Given the description of an element on the screen output the (x, y) to click on. 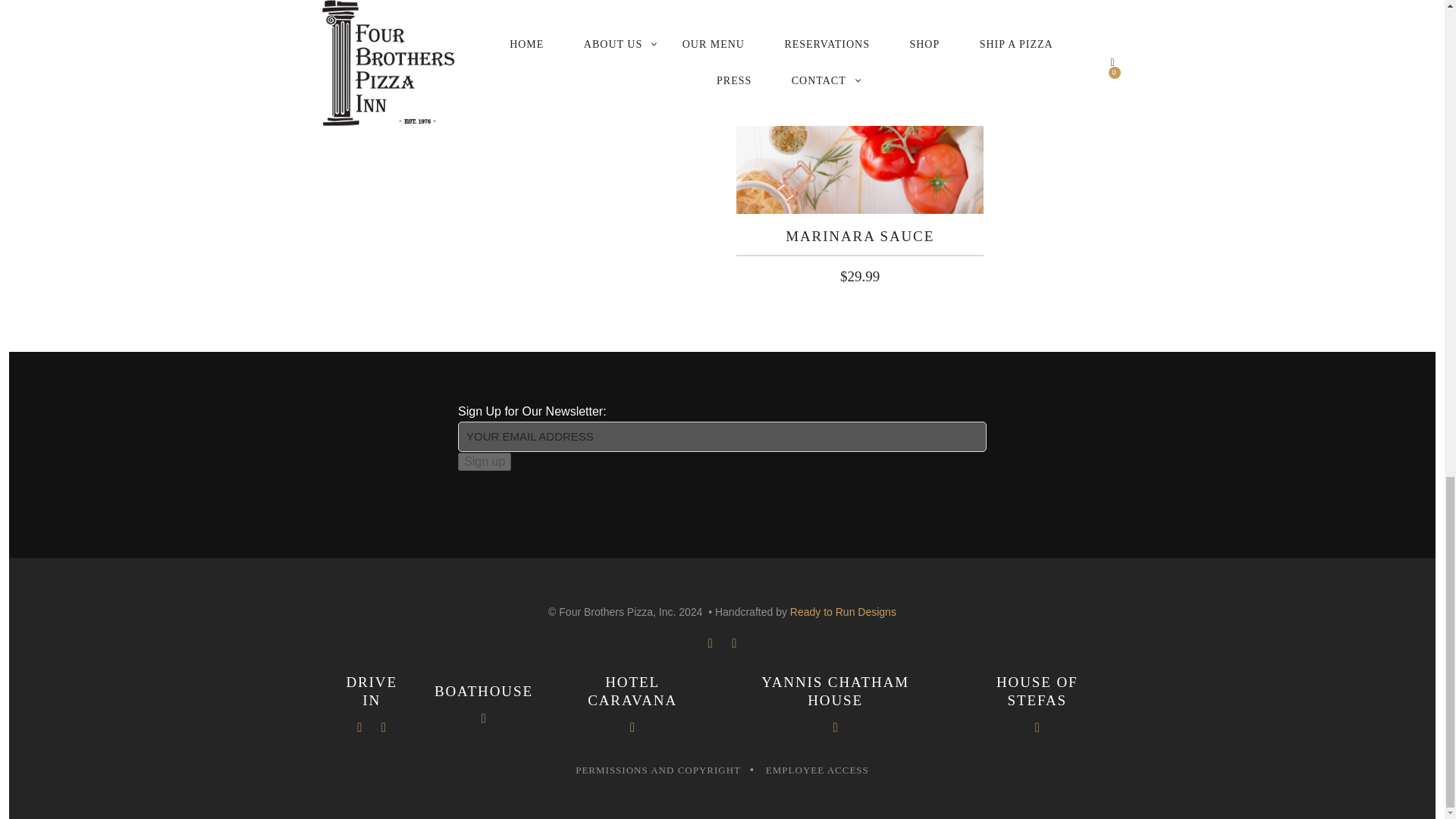
Sign up (484, 461)
Sign up (484, 461)
Ready to Run Designs (843, 612)
